Given the description of an element on the screen output the (x, y) to click on. 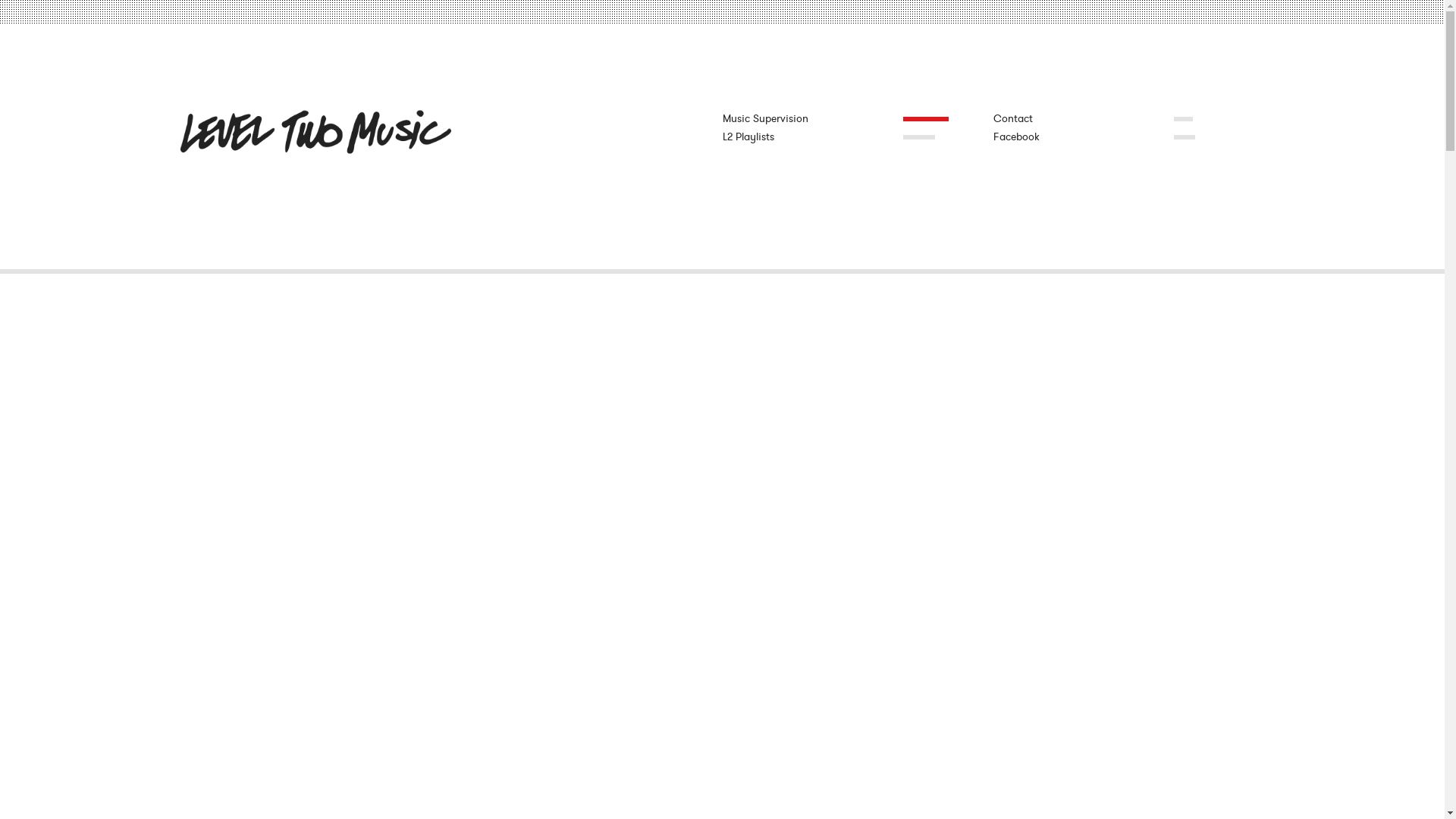
Facebook Element type: text (1083, 136)
Contact Element type: text (1083, 118)
L2 Playlists Element type: text (811, 136)
Music Supervision Element type: text (811, 118)
